Given the description of an element on the screen output the (x, y) to click on. 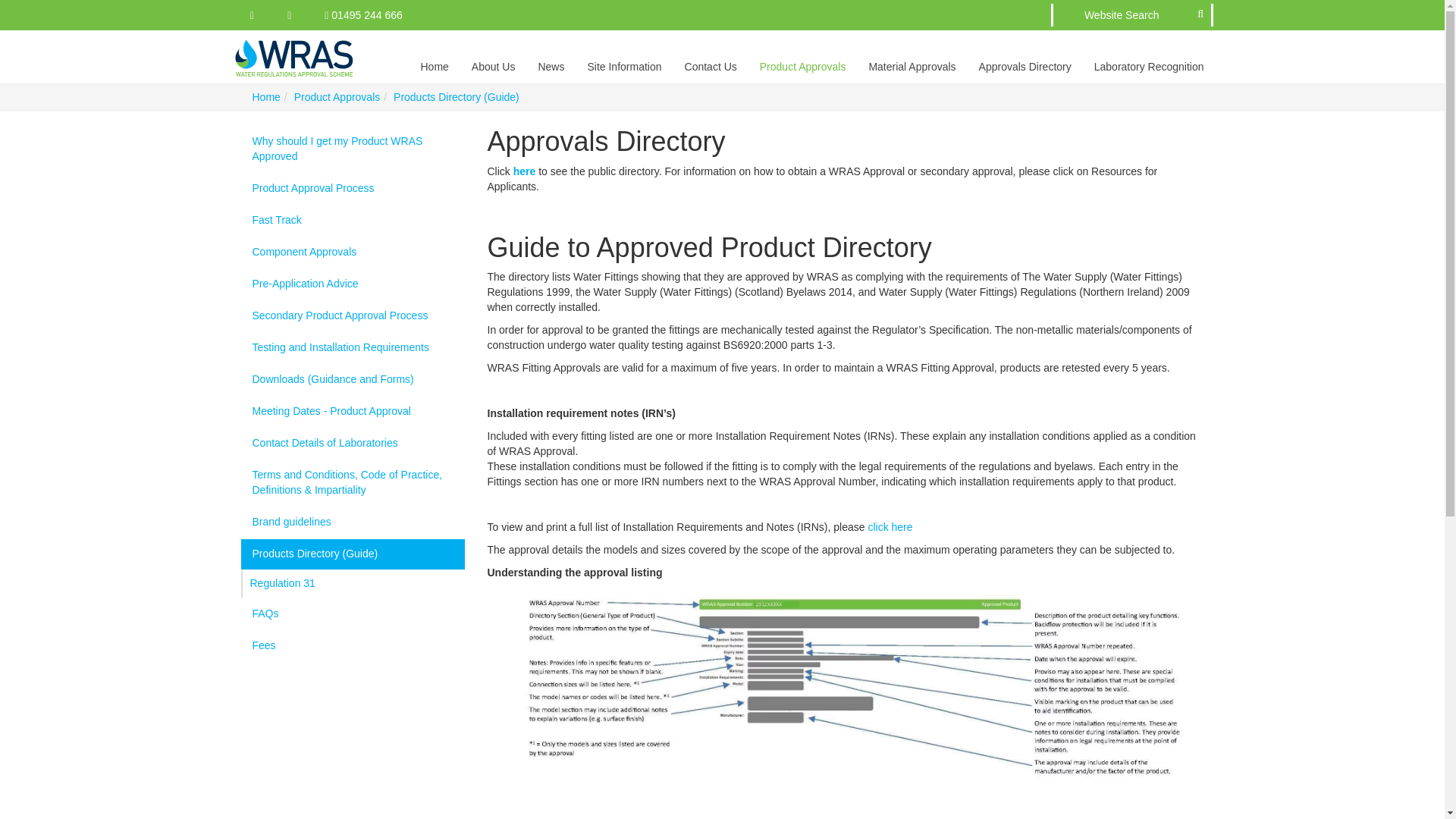
Fees (352, 645)
Home (434, 56)
Site Information (623, 56)
Home (265, 96)
Laboratory Recognition (1149, 56)
Material Approvals (911, 56)
News (550, 56)
Approvals Directory (1025, 56)
About Us (493, 56)
Component Approvals (352, 252)
Meeting Dates - Product Approval (352, 411)
Product Approval Process (352, 188)
Contact Us (710, 56)
Testing and Installation Requirements (352, 347)
click here (889, 526)
